Given the description of an element on the screen output the (x, y) to click on. 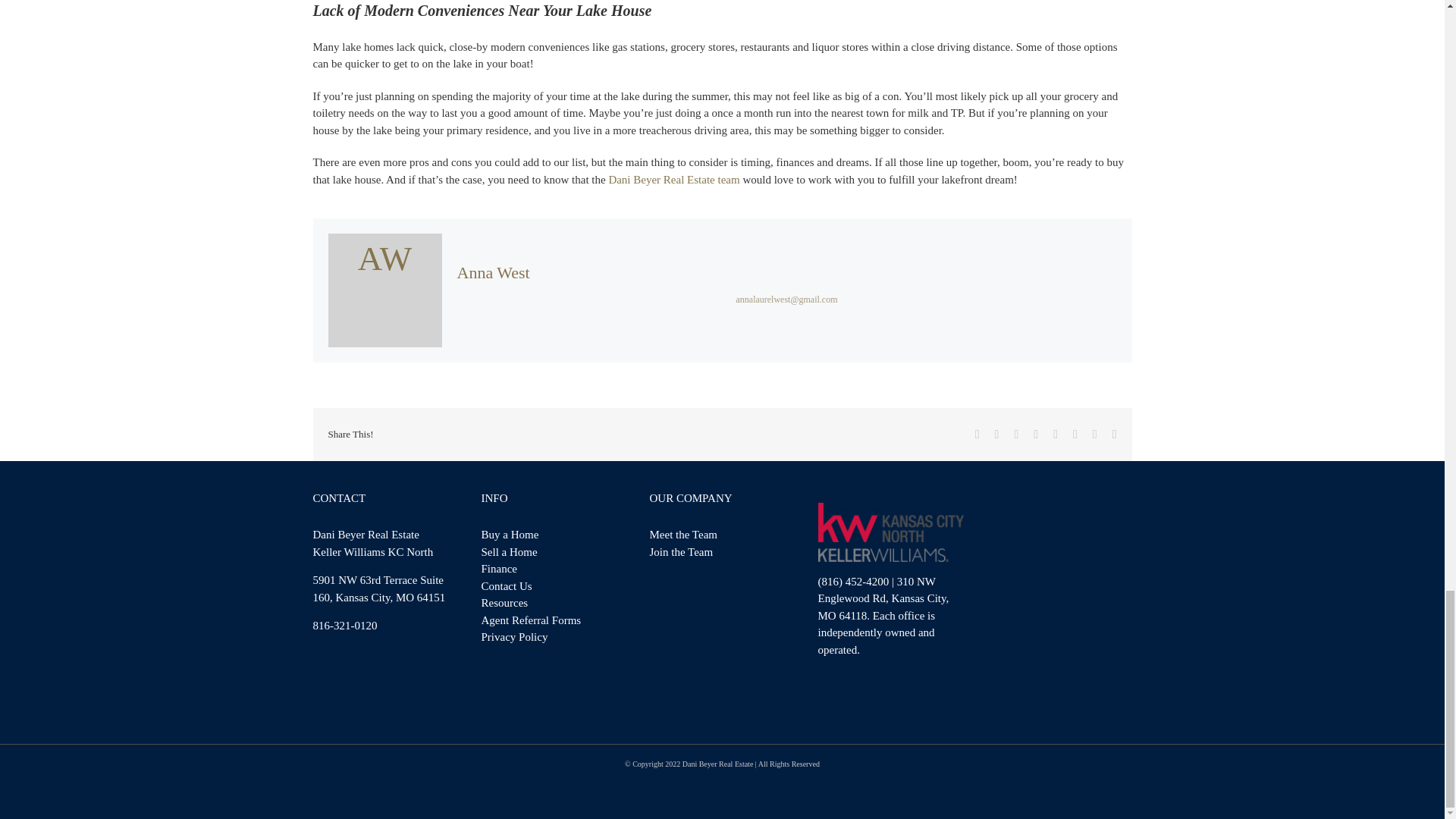
Finance your dream home in Kansas City (498, 568)
Sell homes in Kansas City (508, 551)
Buy homes in Kansas City (509, 534)
